Given the description of an element on the screen output the (x, y) to click on. 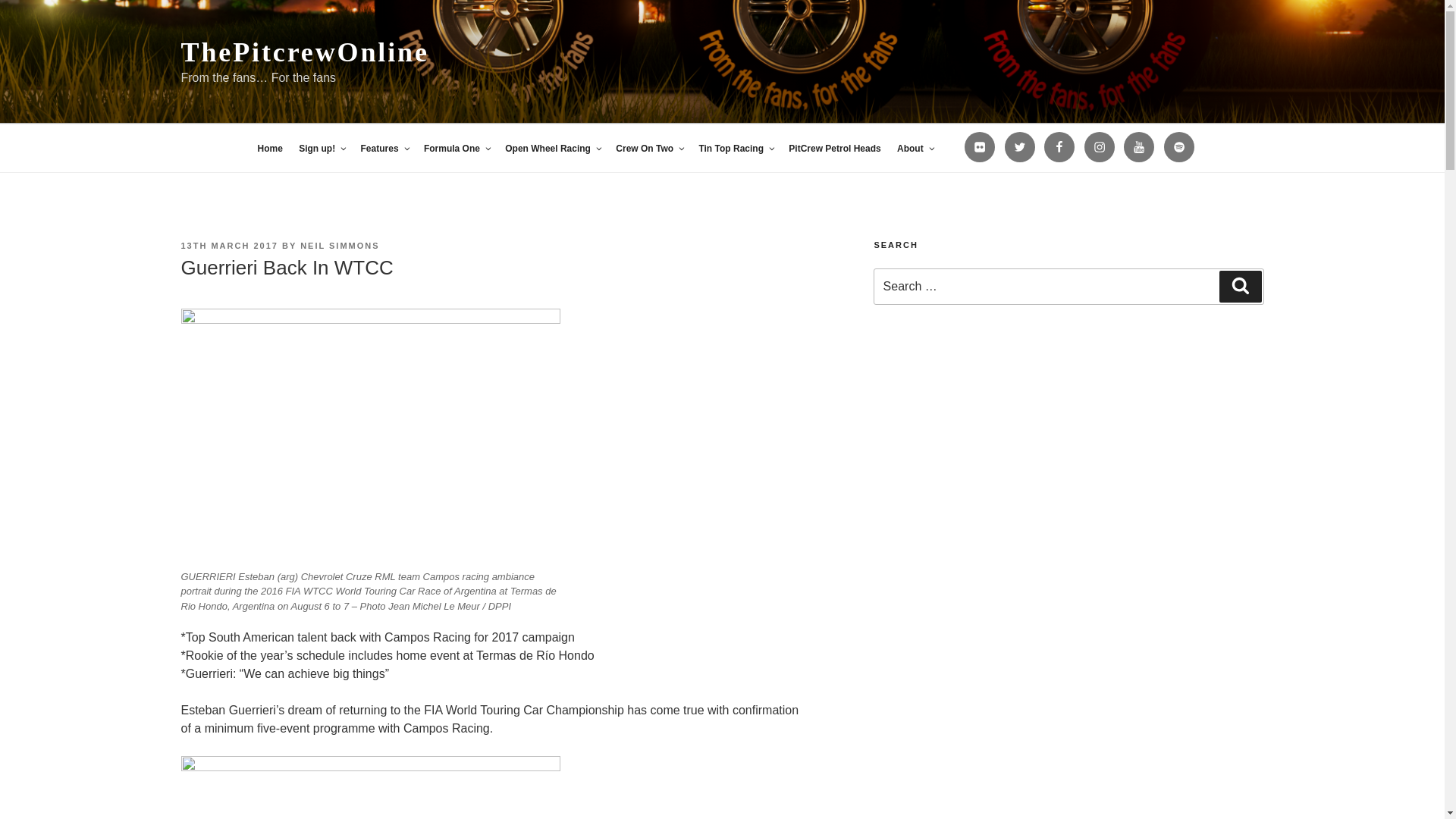
Formula One (456, 148)
ThePitcrewOnline (304, 51)
Features (383, 148)
Open Wheel Racing (552, 148)
Sign up! (321, 148)
Home (269, 148)
